Given the description of an element on the screen output the (x, y) to click on. 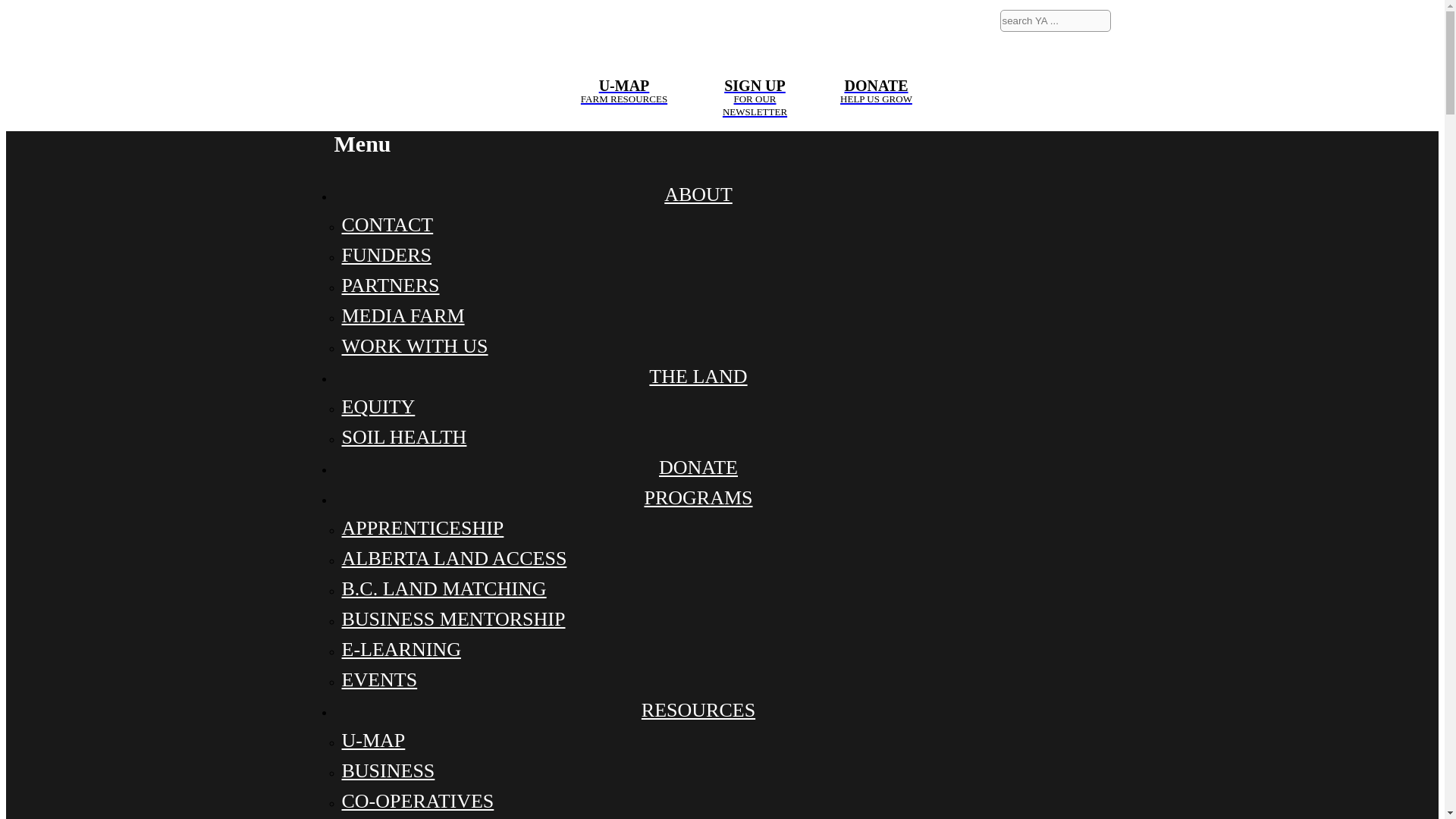
Facebook (1019, 56)
Twitter (1053, 56)
Mail (1088, 91)
RSS (1053, 91)
Flickr (623, 41)
Instagram (1088, 56)
